Given the description of an element on the screen output the (x, y) to click on. 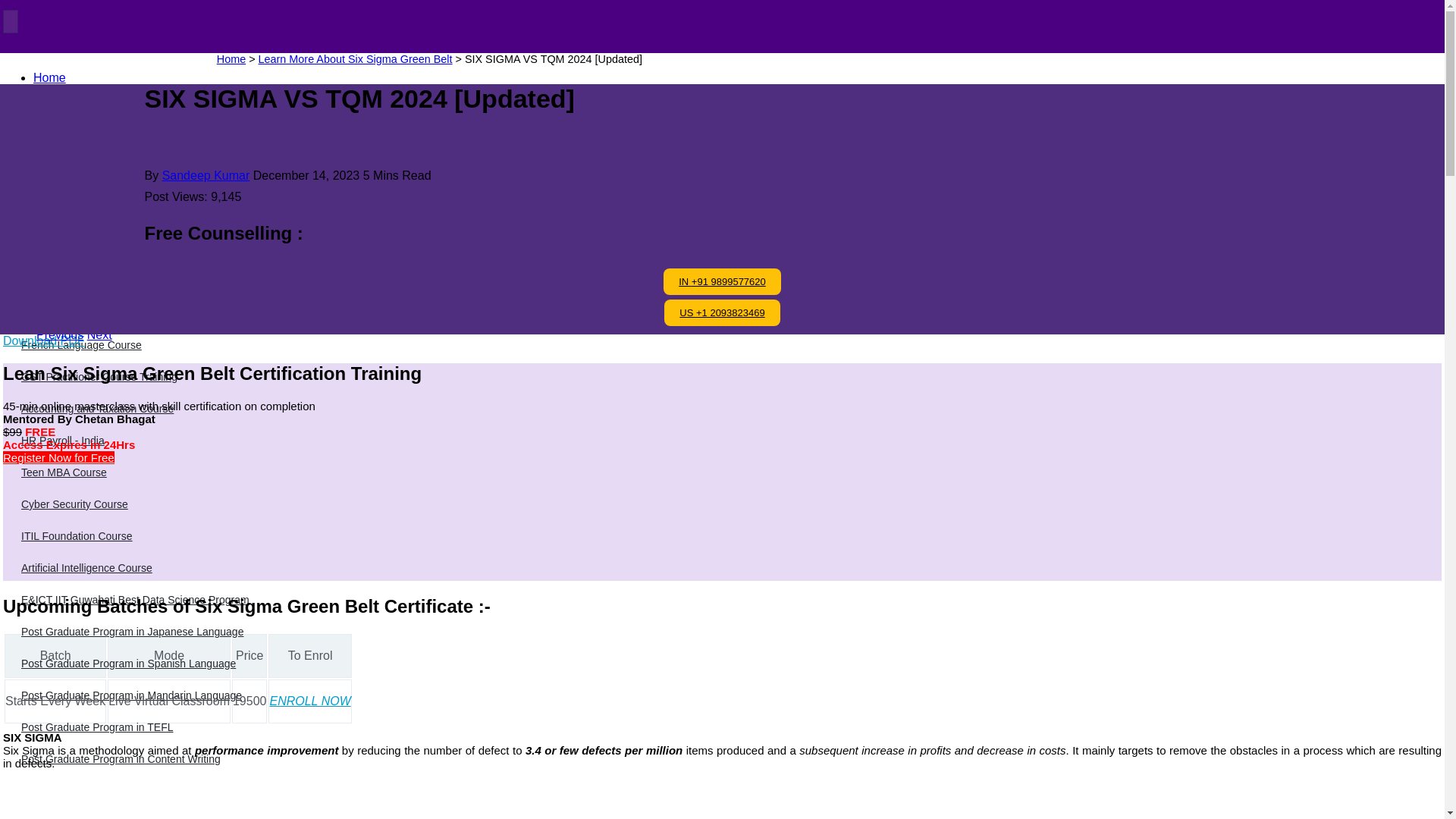
Posts by Sandeep Kumar (205, 174)
Home (231, 59)
Top 20 Courses (45, 115)
Home (49, 77)
About Us (57, 124)
Jobs (46, 220)
View All (110, 277)
Henry Harvin Blog (60, 71)
Learn More About Six Sigma Green Belt (355, 59)
Accounting and Taxation (154, 229)
